Given the description of an element on the screen output the (x, y) to click on. 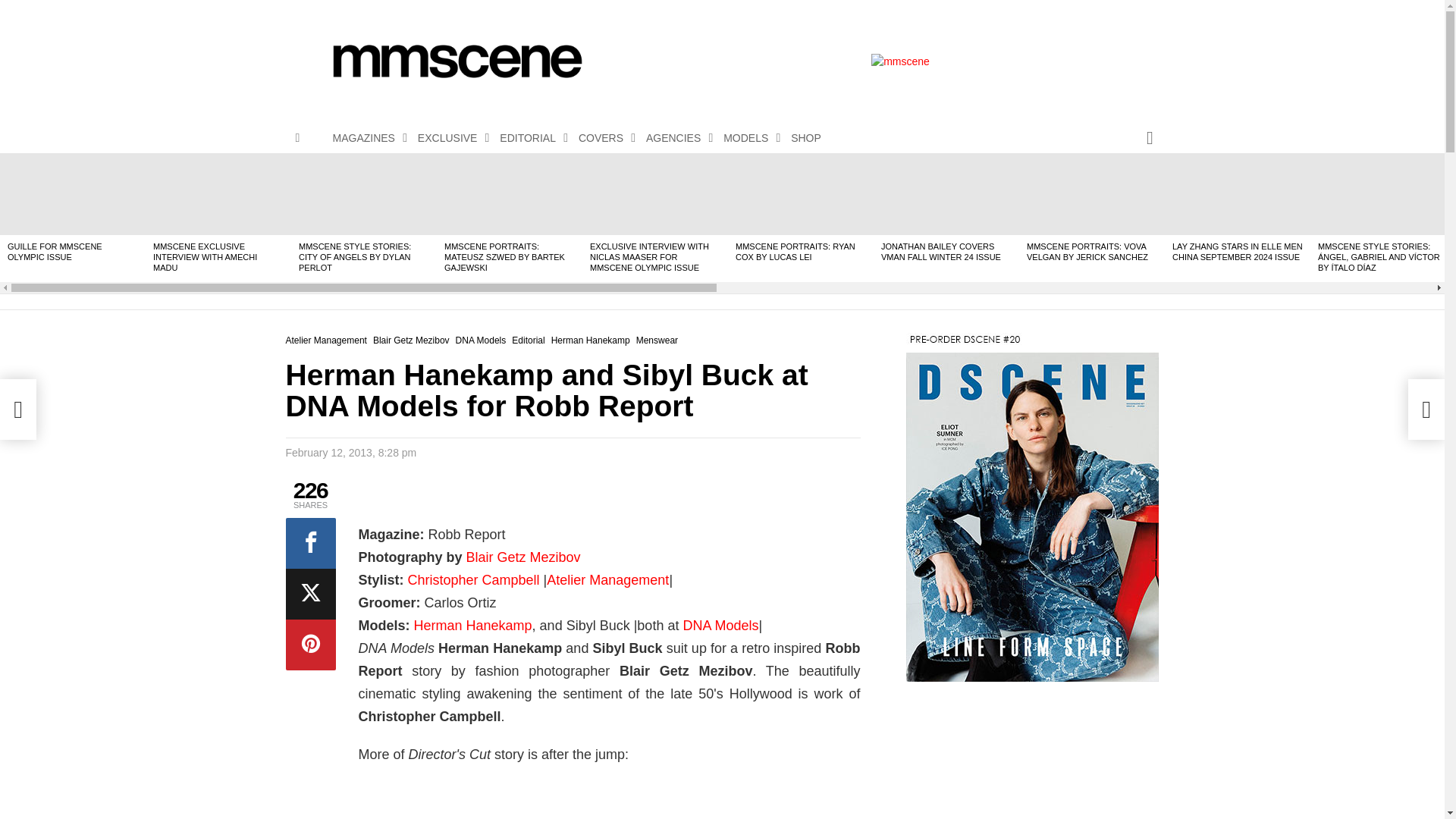
MODELS (748, 137)
EXCLUSIVE (449, 137)
MMSCENE STYLE STORIES: City of Angels by Dylan Perlot (363, 194)
Guille for MMSCENE Olympic Issue (72, 194)
EDITORIAL (529, 137)
Menu (296, 137)
SHOP (805, 137)
AGENCIES (676, 137)
MAGAZINES (365, 137)
MMSCENE Exclusive Interview with Amechi Madu (218, 194)
